Given the description of an element on the screen output the (x, y) to click on. 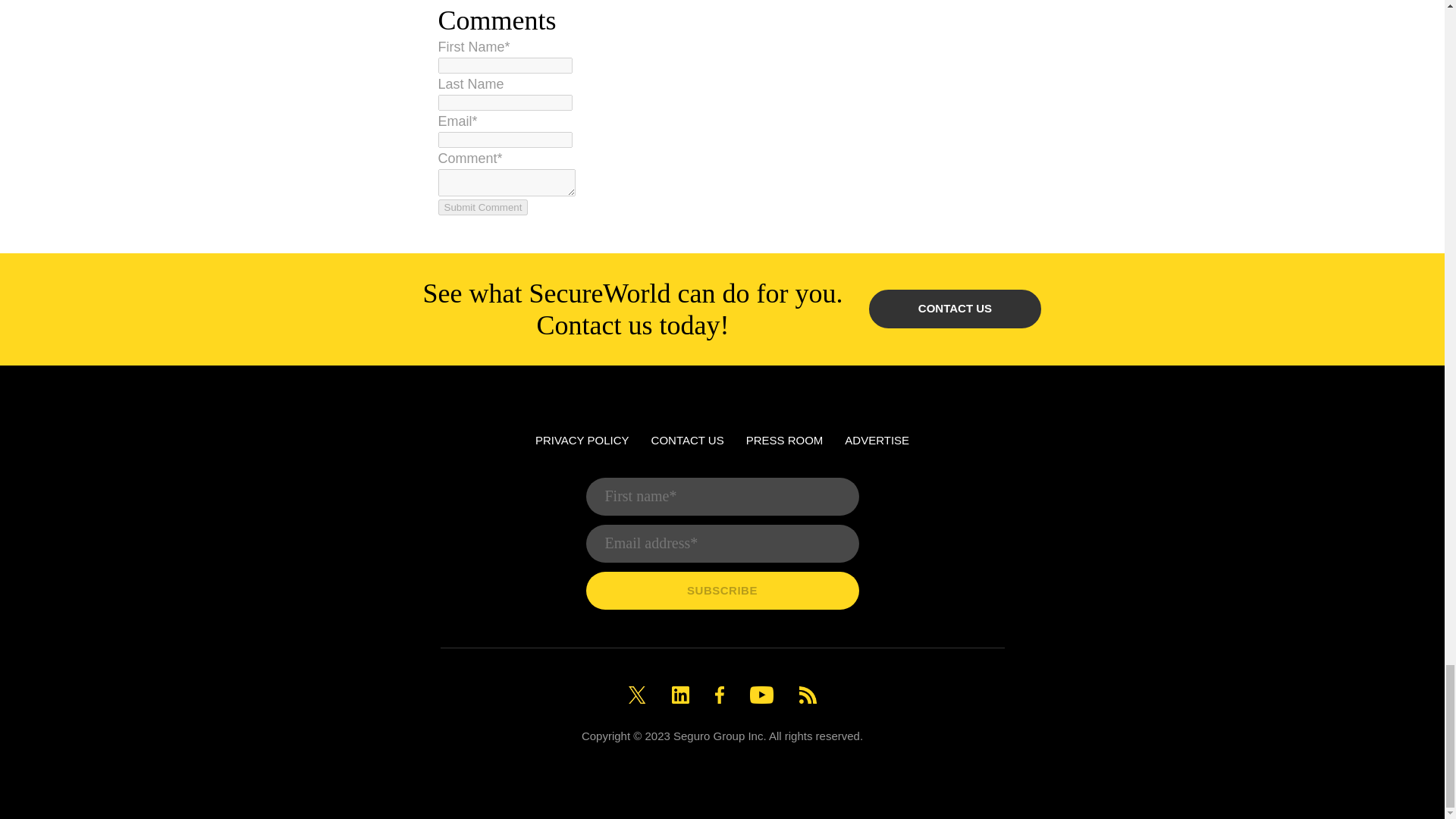
Subscribe (722, 590)
CONTACT US (955, 308)
PRIVACY POLICY (581, 440)
Contact us (955, 308)
PRESS ROOM (784, 440)
Submit Comment (483, 207)
Submit Comment (483, 207)
CONTACT US (686, 440)
